Given the description of an element on the screen output the (x, y) to click on. 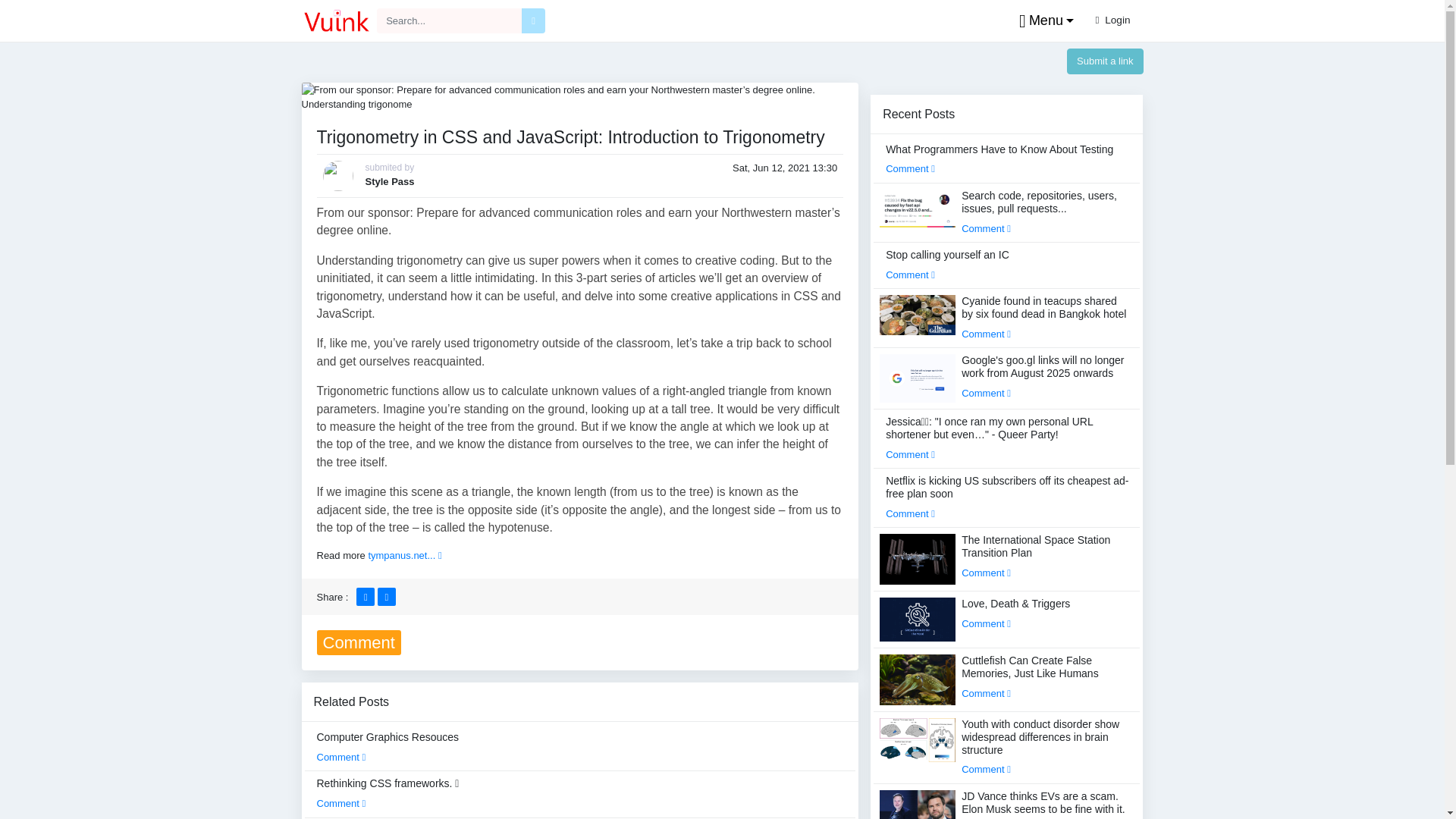
Computer Graphics Resouces (388, 746)
Submit a link (1104, 61)
tympanus.net... (404, 555)
Comment (341, 803)
Menu (1043, 20)
Comment (341, 756)
